Given the description of an element on the screen output the (x, y) to click on. 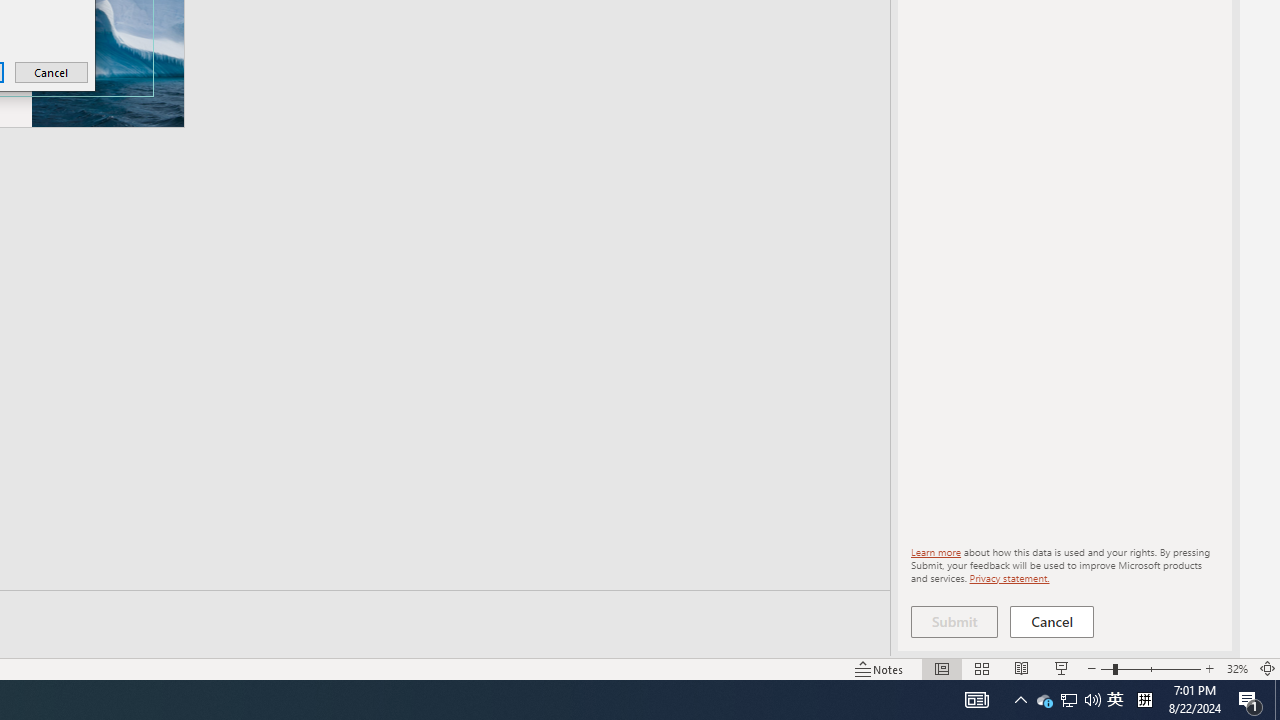
Learn more (936, 551)
Cancel (51, 72)
